Given the description of an element on the screen output the (x, y) to click on. 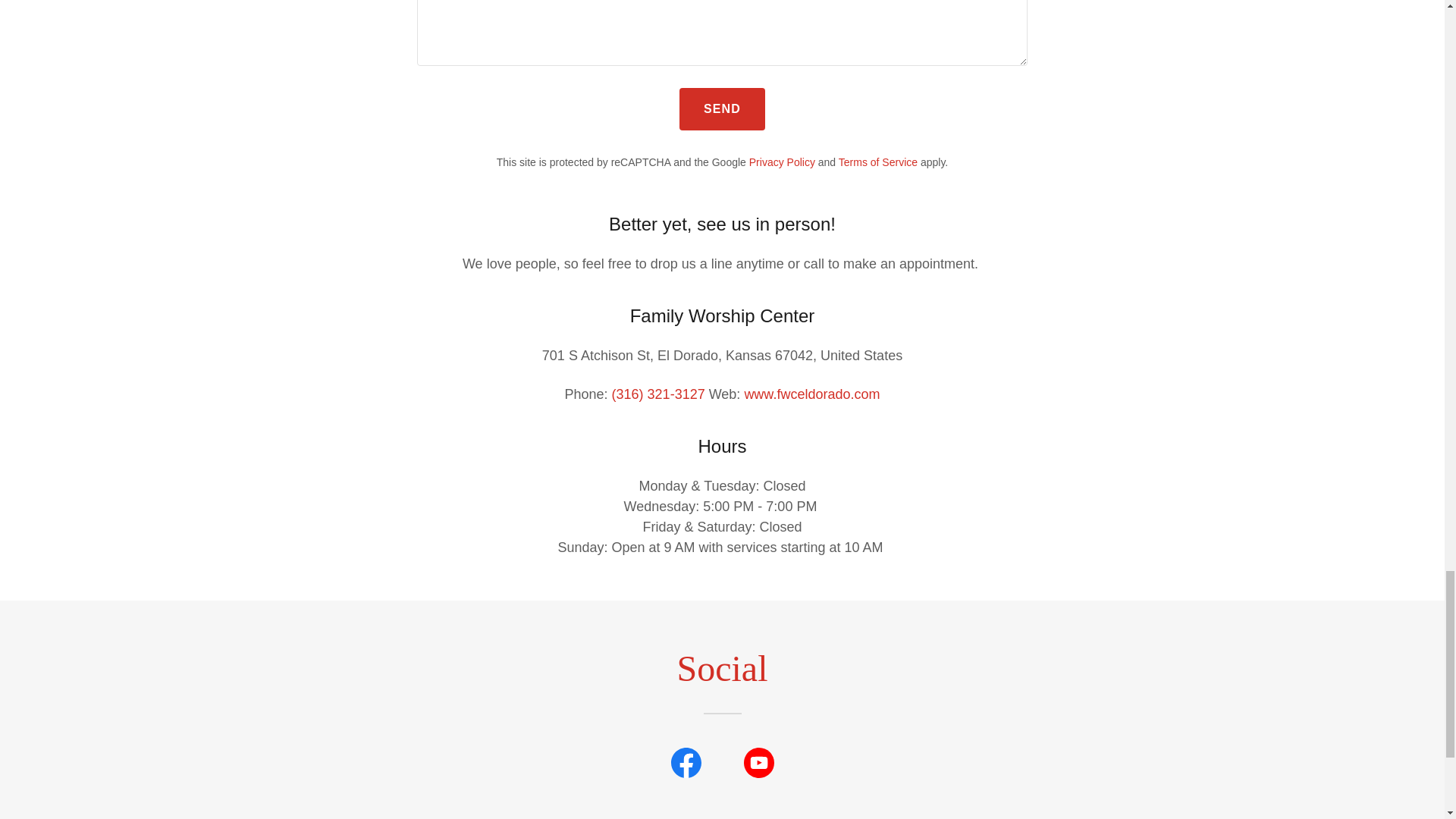
SEND (722, 108)
Terms of Service (877, 162)
Privacy Policy (782, 162)
